Given the description of an element on the screen output the (x, y) to click on. 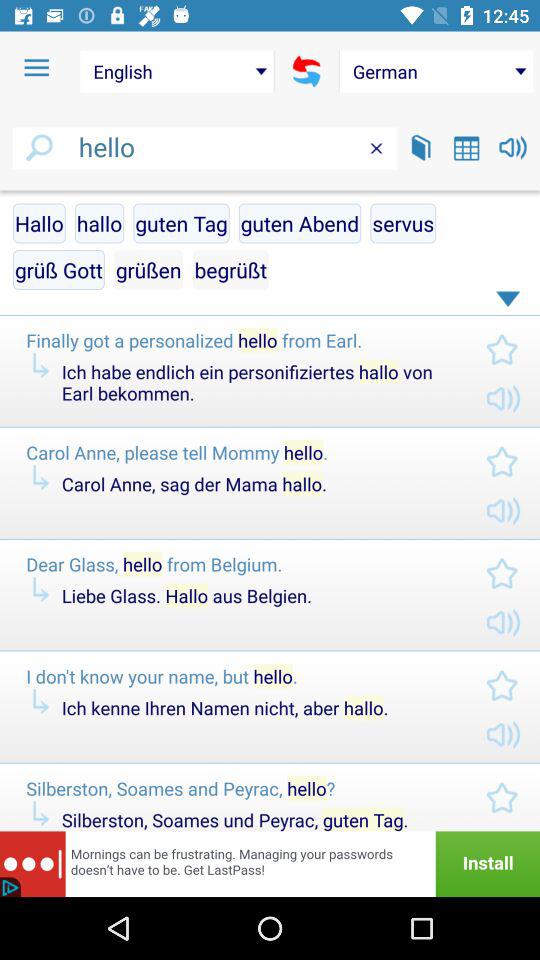
select grammar charts (466, 148)
